Given the description of an element on the screen output the (x, y) to click on. 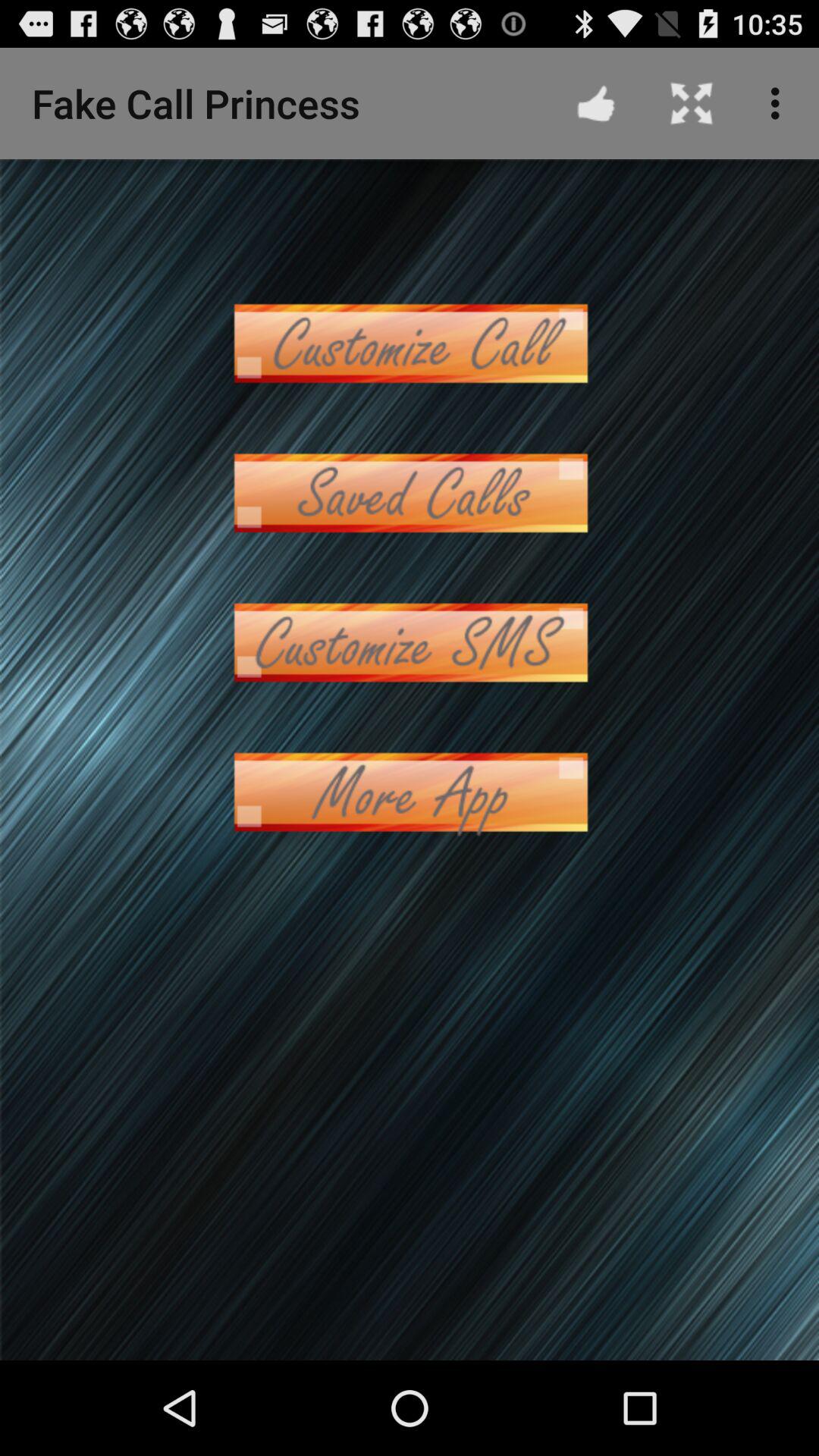
select customize call (409, 343)
